Given the description of an element on the screen output the (x, y) to click on. 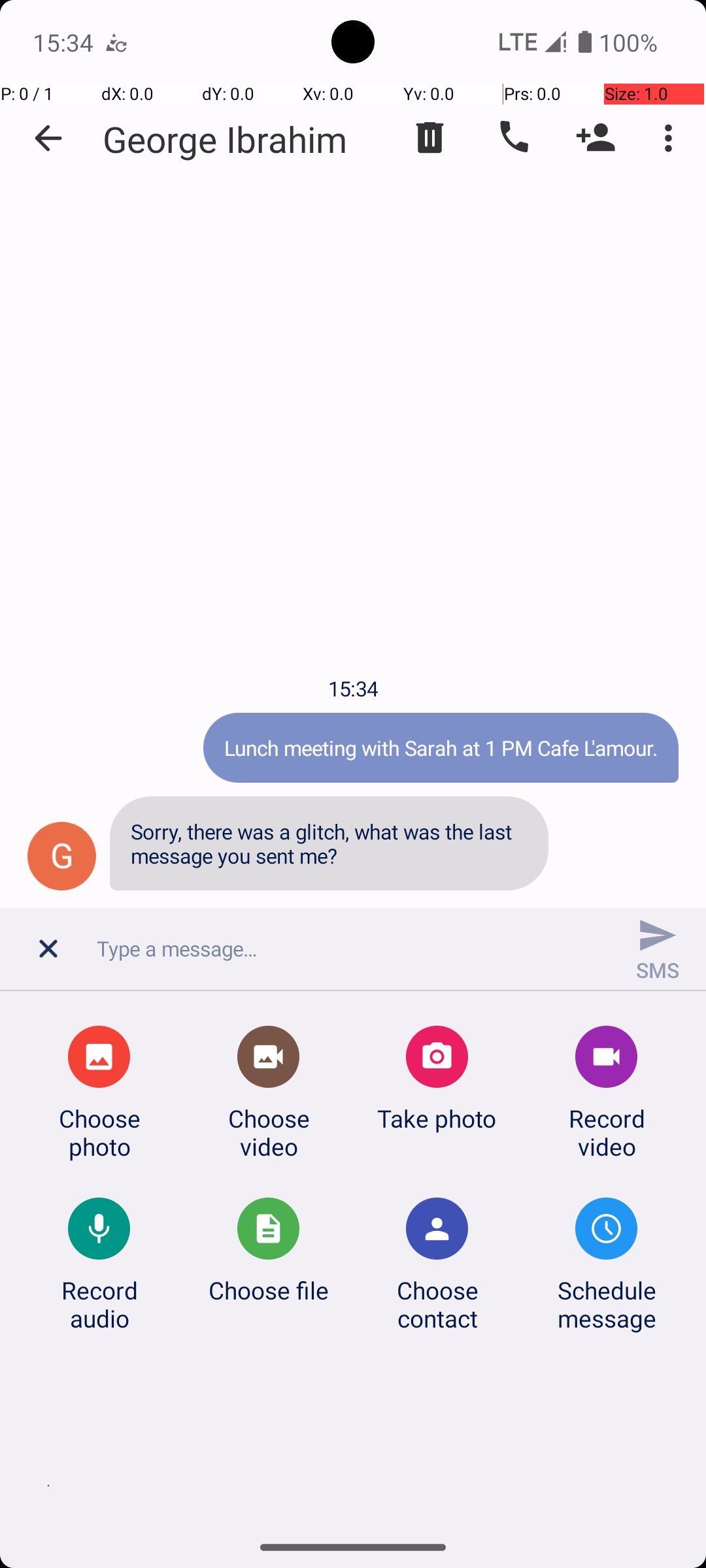
George Ibrahim Element type: android.widget.TextView (224, 138)
Lunch meeting with Sarah at 1 PM Cafe L'amour. Element type: android.widget.TextView (440, 747)
Choose photo Element type: android.widget.TextView (98, 1131)
Choose video Element type: android.widget.TextView (268, 1131)
Record video Element type: android.widget.TextView (606, 1131)
Record audio Element type: android.widget.TextView (98, 1303)
Choose file Element type: android.widget.TextView (268, 1289)
Choose contact Element type: android.widget.TextView (436, 1303)
Schedule message Element type: android.widget.TextView (606, 1303)
